Given the description of an element on the screen output the (x, y) to click on. 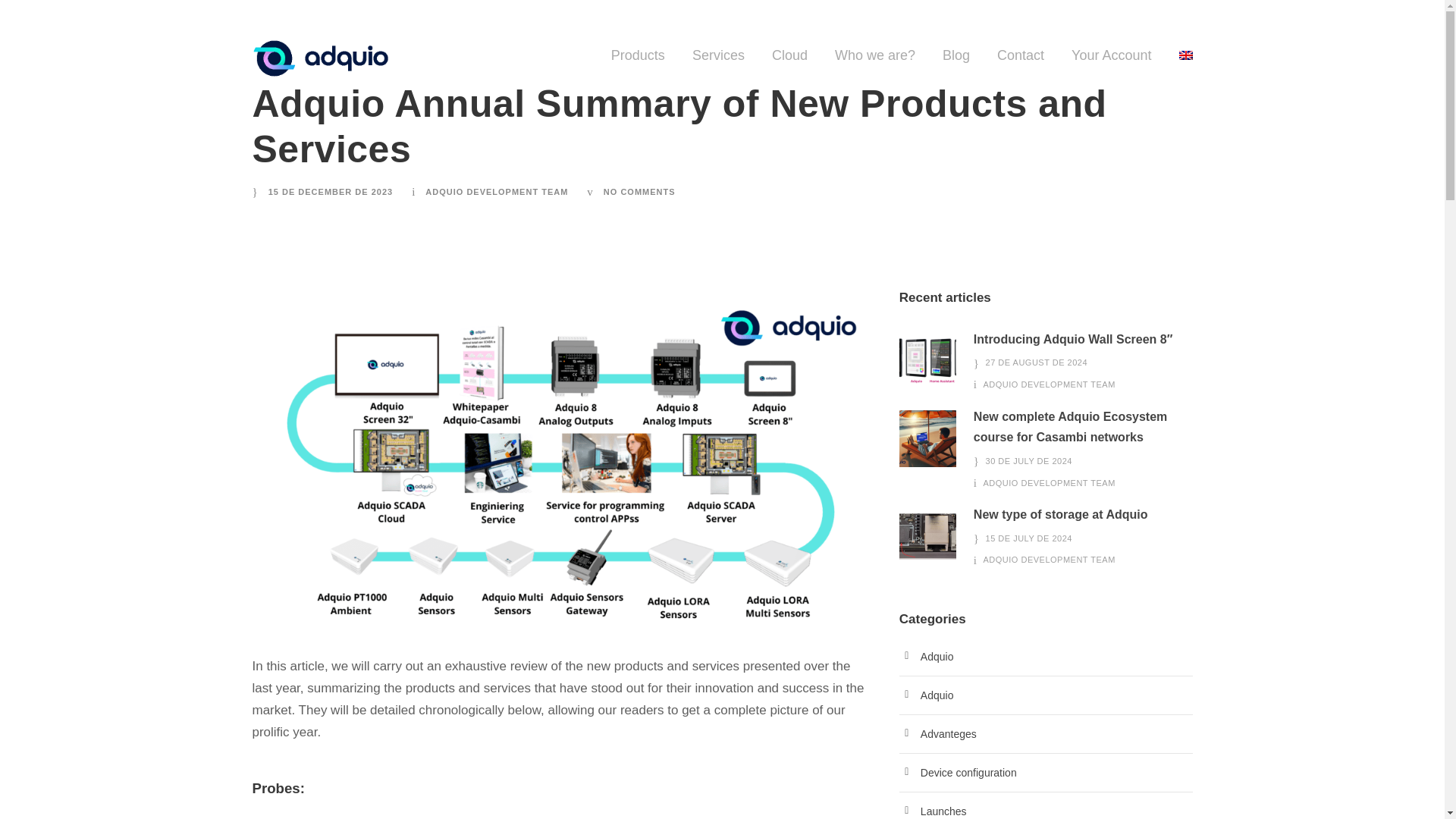
Posts by Adquio Development Team (1049, 384)
Products (638, 62)
Services (718, 62)
Posts by Adquio Development Team (1049, 559)
Posts by Adquio Development Team (496, 191)
Posts by Adquio Development Team (1049, 482)
Adquio Casambi training on the beach (927, 438)
Untitled-2024-04-09-1349 (927, 536)
